Given the description of an element on the screen output the (x, y) to click on. 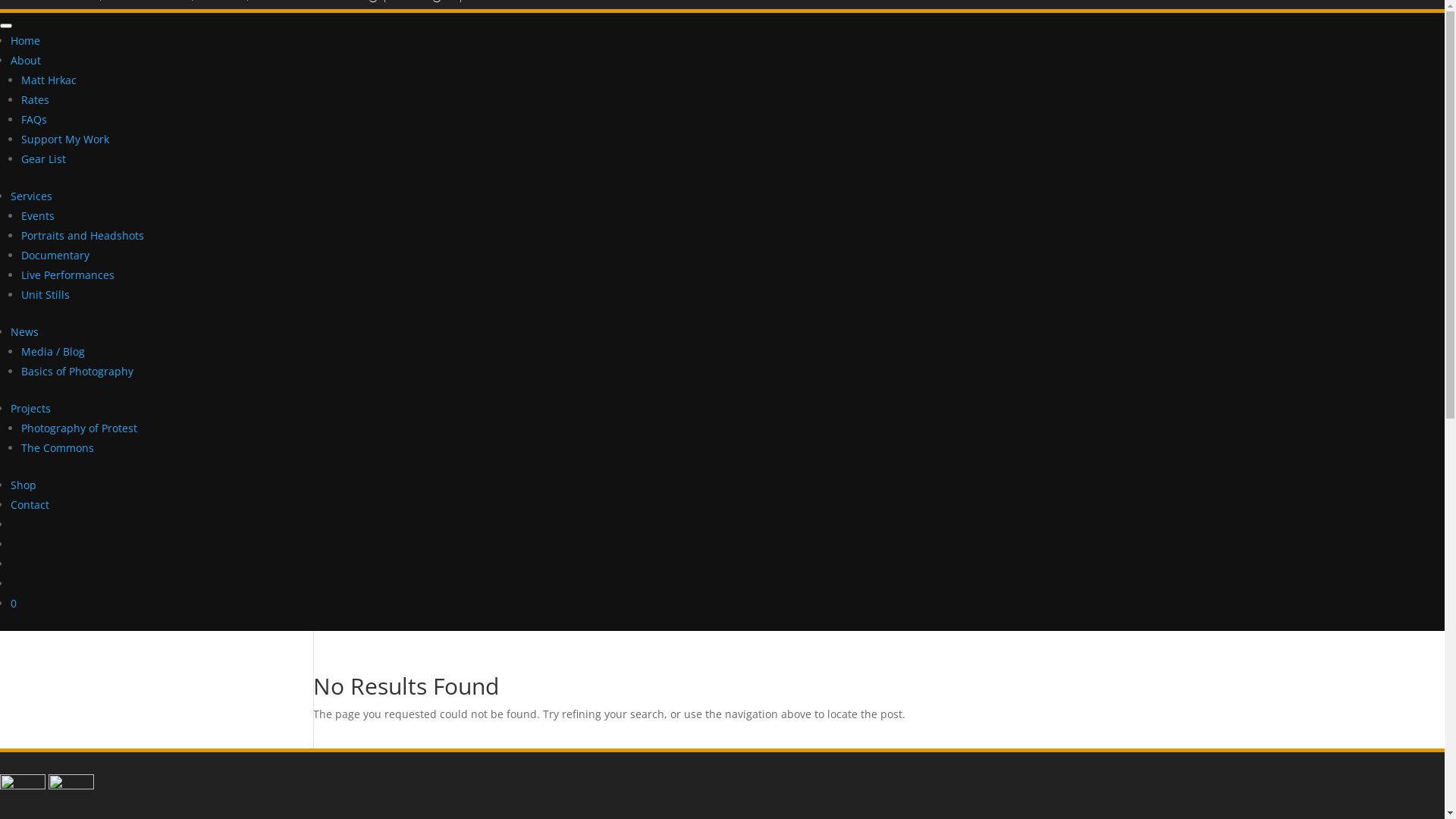
FAQs Element type: text (34, 119)
Services Element type: text (31, 195)
0 Element type: text (13, 603)
Shop Element type: text (23, 484)
Rates Element type: text (35, 99)
Portraits and Headshots Element type: text (82, 235)
Media / Blog Element type: text (52, 351)
Live Performances Element type: text (67, 274)
Unit Stills Element type: text (45, 294)
Projects Element type: text (30, 408)
About Element type: text (25, 60)
News Element type: text (24, 331)
Gear List Element type: text (43, 158)
Support My Work Element type: text (65, 138)
Photography of Protest Element type: text (79, 427)
Matt Hrkac Element type: text (48, 79)
The Commons Element type: text (57, 447)
Home Element type: text (25, 40)
Basics of Photography Element type: text (77, 371)
Contact Element type: text (29, 504)
Documentary Element type: text (55, 254)
Events Element type: text (37, 215)
